Given the description of an element on the screen output the (x, y) to click on. 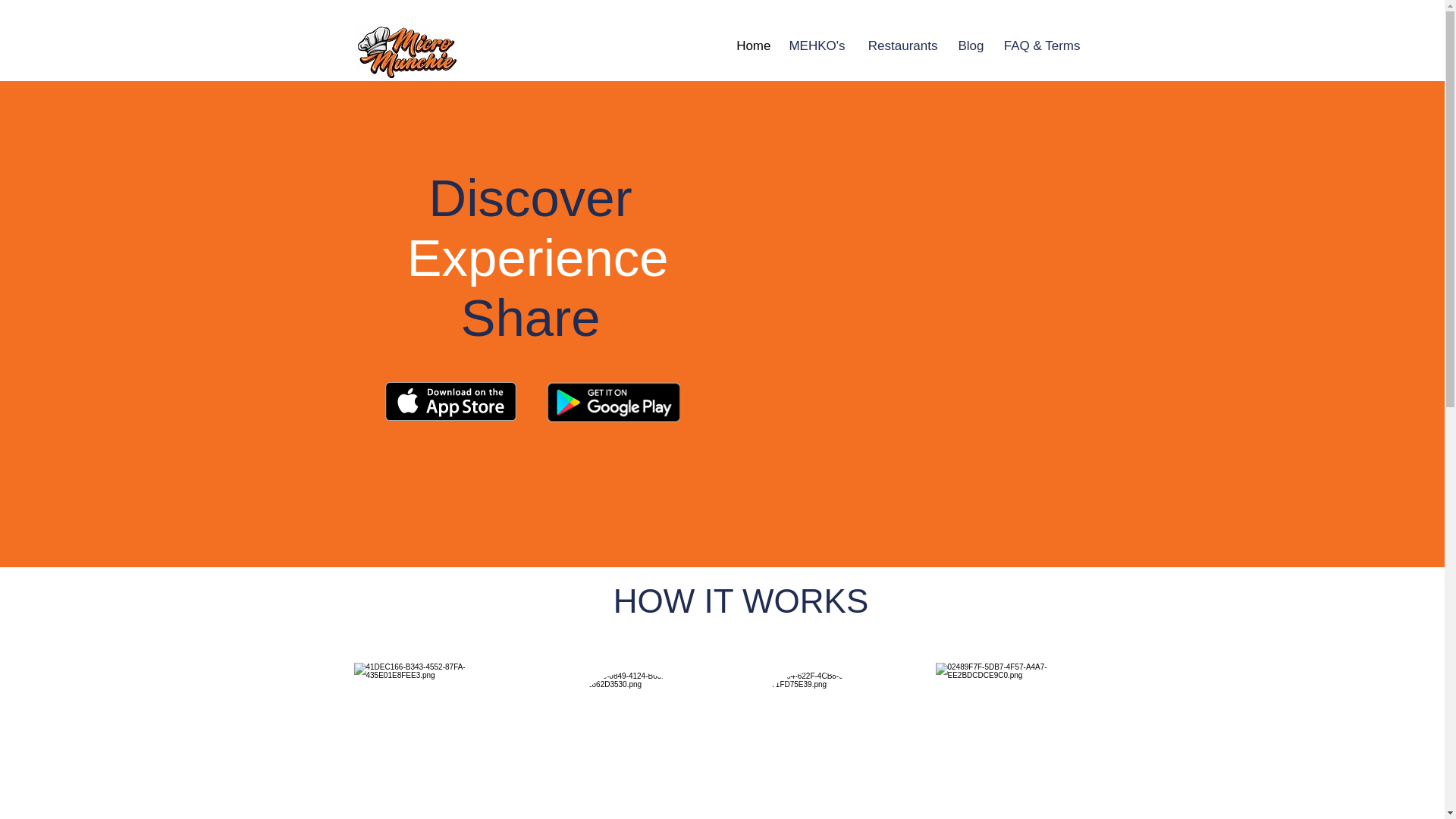
guy3.jpg (632, 743)
MEHKO's (814, 46)
guy3.jpg (813, 739)
Home (750, 46)
guy4.jpg (434, 740)
guy2.jpg (1010, 736)
Restaurants (897, 46)
Blog (967, 46)
